Given the description of an element on the screen output the (x, y) to click on. 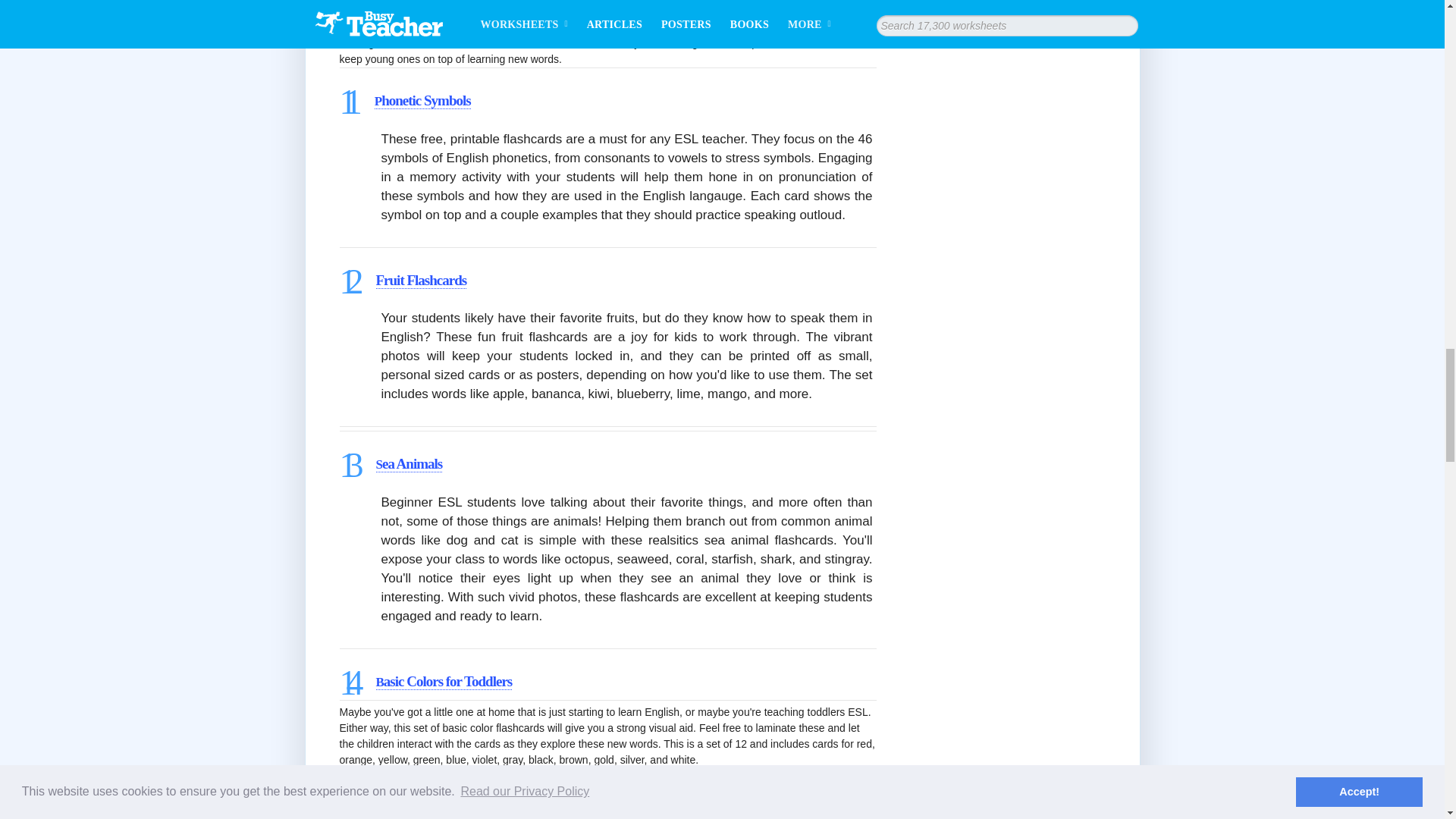
Fruit Flashcards (421, 280)
Phonetic Symbols (422, 100)
